Given the description of an element on the screen output the (x, y) to click on. 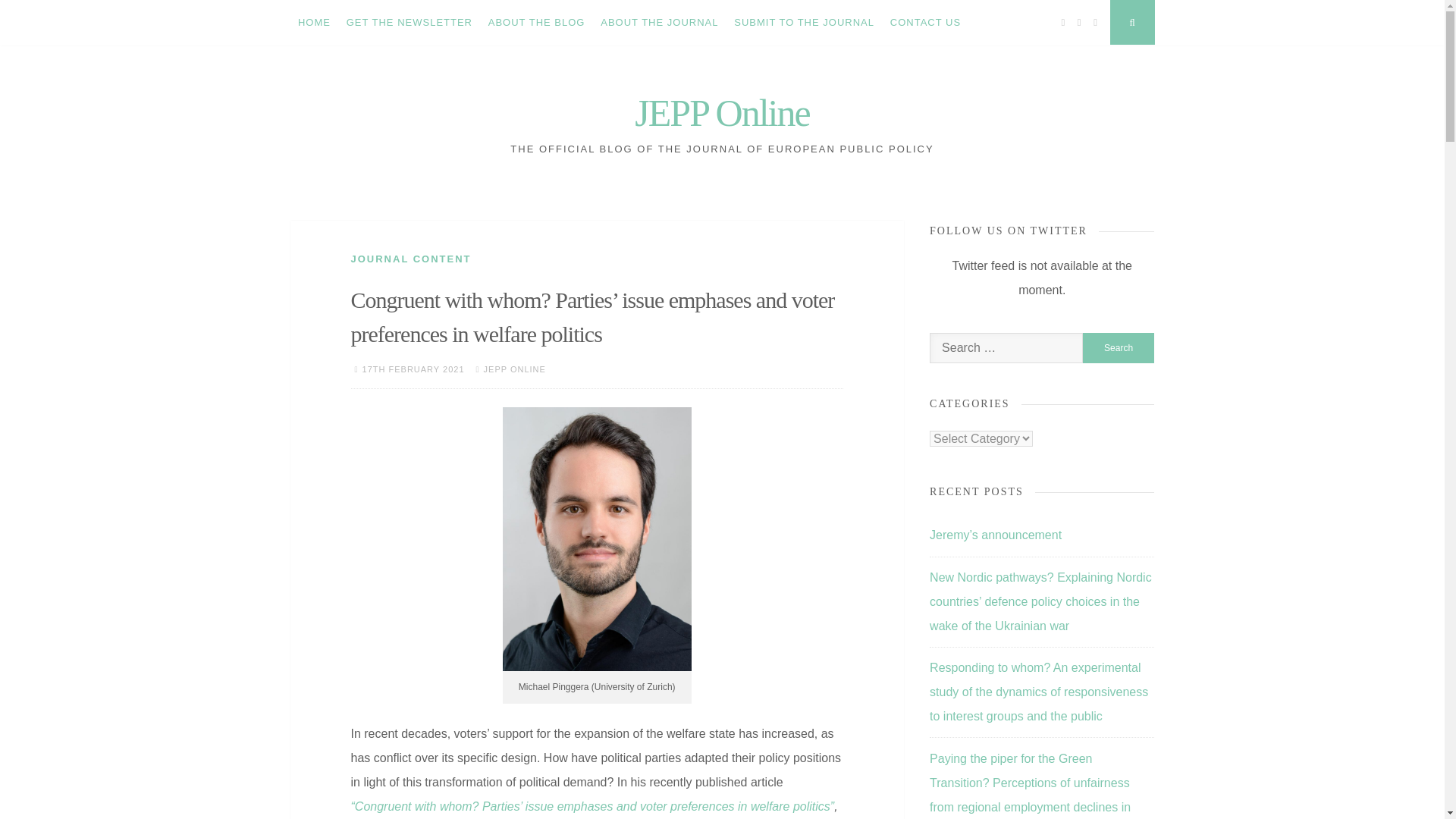
ABOUT THE JOURNAL (659, 22)
SUBMIT TO THE JOURNAL (804, 22)
Search (1118, 347)
GET THE NEWSLETTER (408, 22)
17TH FEBRUARY 2021 (413, 368)
ABOUT THE BLOG (536, 22)
JEPP ONLINE (514, 368)
HOME (313, 22)
JOURNAL CONTENT (410, 258)
Search (1118, 347)
CONTACT US (925, 22)
Search (1118, 347)
